Given the description of an element on the screen output the (x, y) to click on. 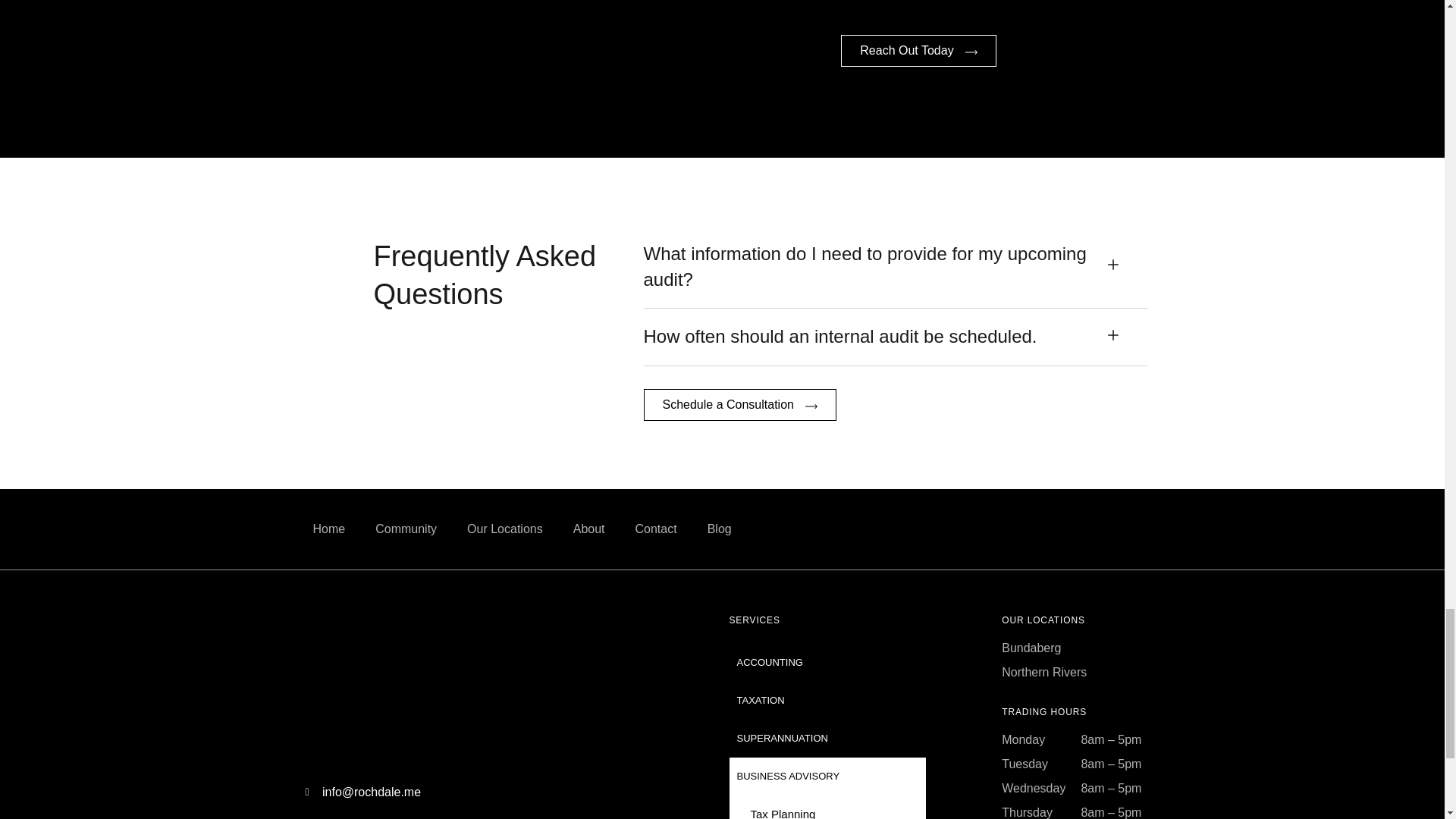
Xero Gold Partner (615, 687)
Find Us On Facebook (1040, 528)
www.localsearch.com.au (1096, 528)
Find Us On GMB (1069, 528)
